Given the description of an element on the screen output the (x, y) to click on. 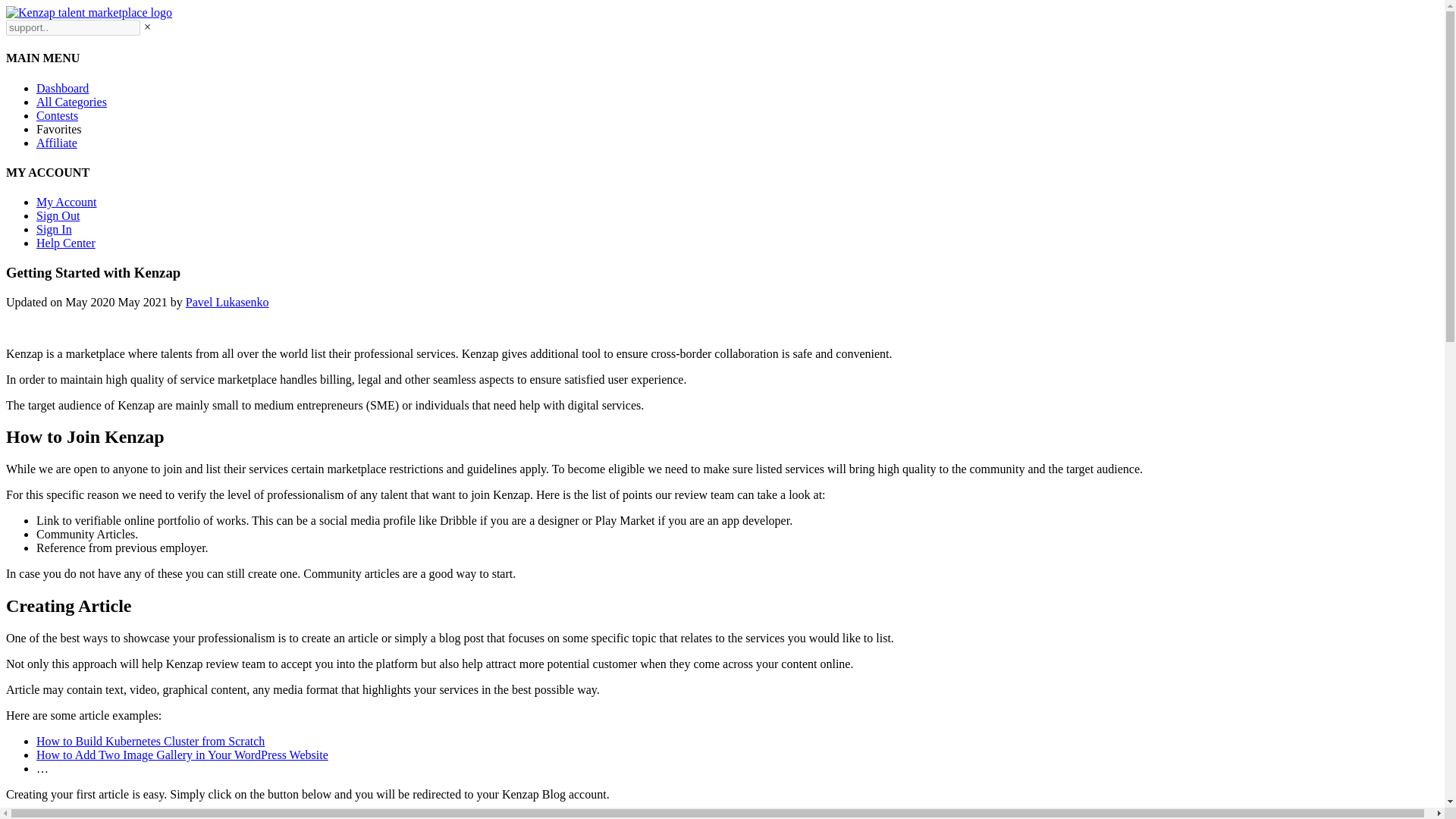
Affiliate (56, 142)
Help Center (66, 242)
Sign Out (58, 215)
Create Article (729, 816)
How to Add Two Image Gallery in Your WordPress Website (182, 754)
Favorites (58, 128)
Sign In (53, 228)
How to Build Kubernetes Cluster from Scratch (150, 740)
All Categories (71, 101)
My Account (66, 201)
